Given the description of an element on the screen output the (x, y) to click on. 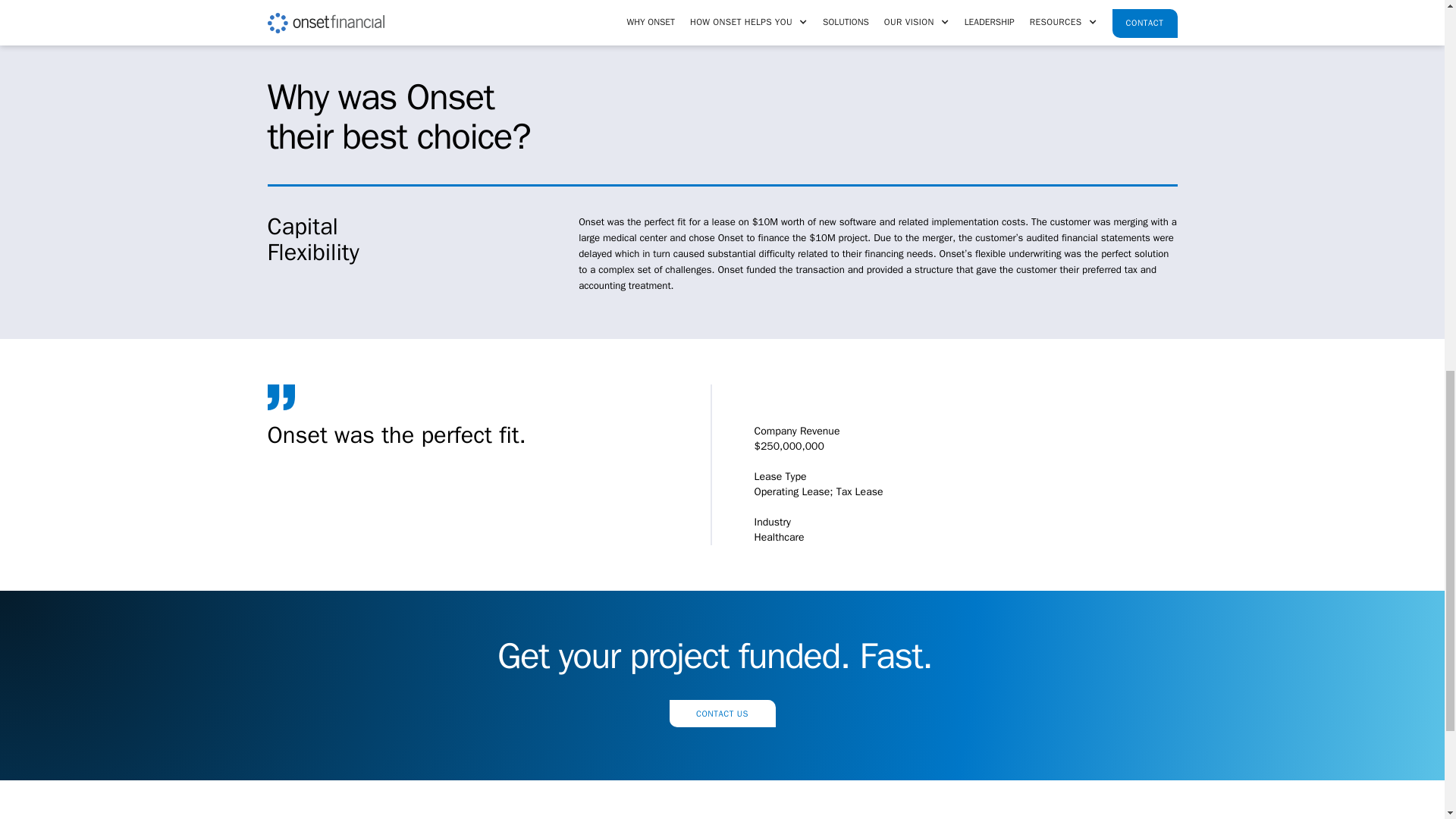
CONTACT US (721, 713)
